Given the description of an element on the screen output the (x, y) to click on. 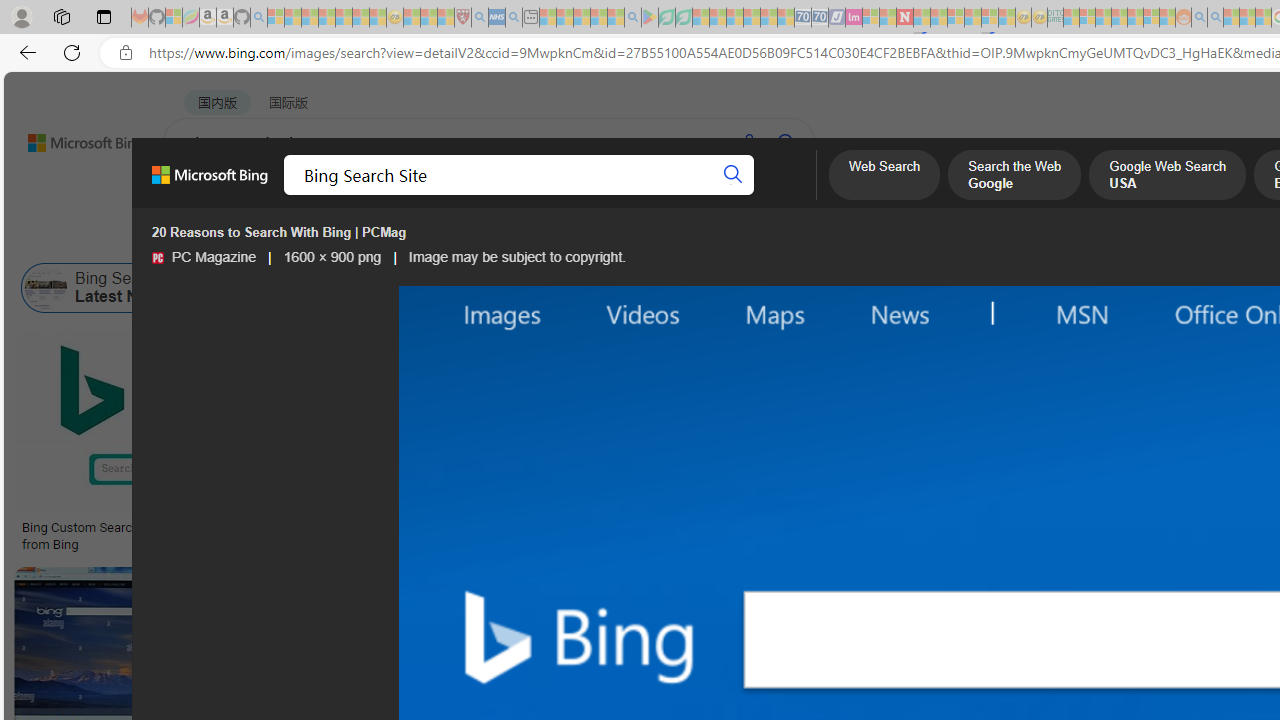
Layout (443, 237)
Image size (222, 237)
Bing Custom Search: A New Site Search Solution from Bing (169, 535)
PC Magazine PC Magazine (203, 257)
Search the Web Google (1014, 177)
MY BING (276, 195)
Show Bing Search Engine (889, 287)
ACADEMIC (635, 195)
